Given the description of an element on the screen output the (x, y) to click on. 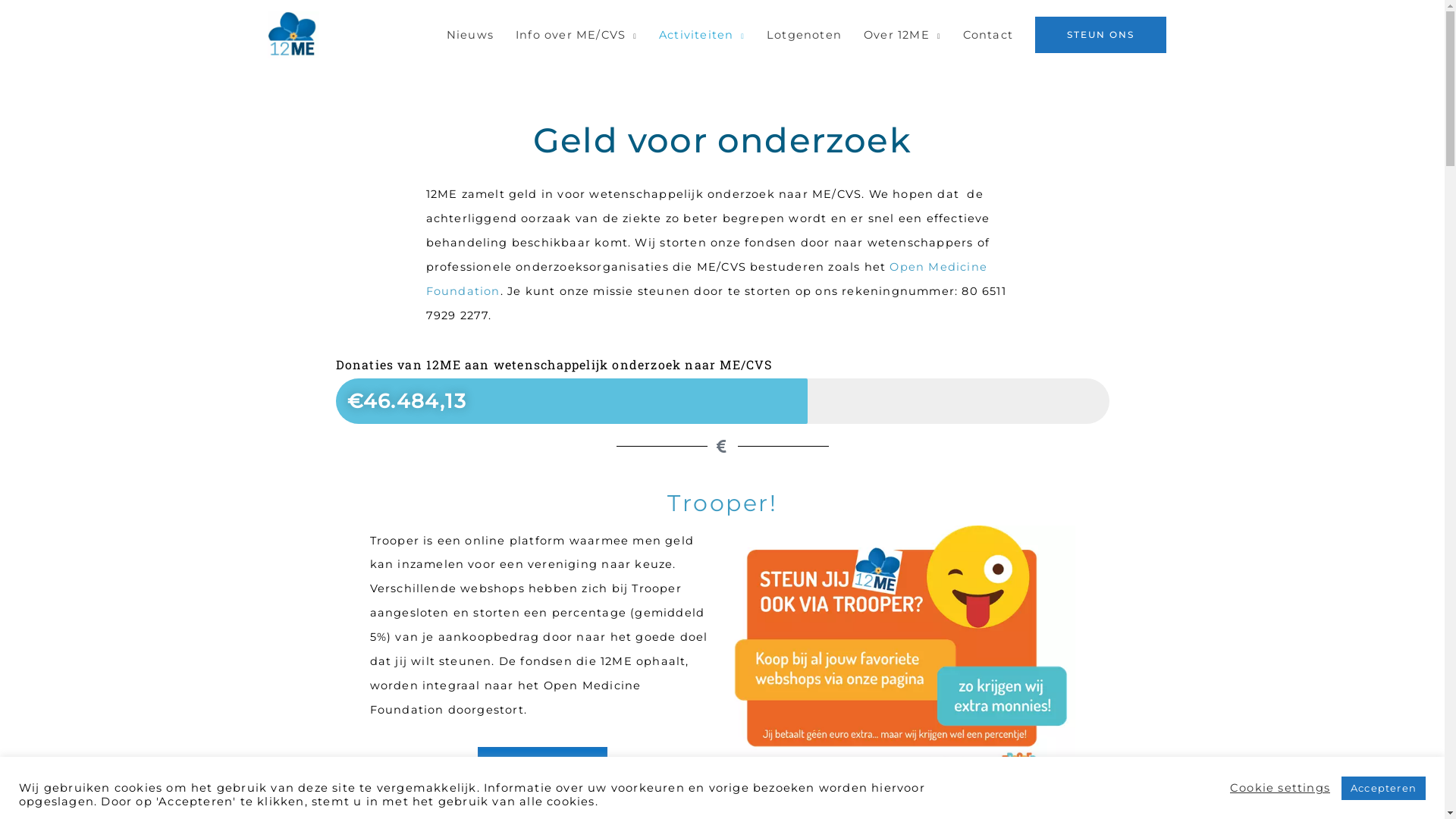
LEES MEER Element type: text (542, 764)
Cookie settings Element type: text (1280, 787)
Open Medicine Foundation Element type: text (706, 279)
Nieuws Element type: text (469, 34)
Lotgenoten Element type: text (804, 34)
Over 12ME Element type: text (902, 34)
Activiteiten Element type: text (701, 34)
STEUN ONS Element type: text (1100, 34)
Info over ME/CVS Element type: text (576, 34)
Contact Element type: text (987, 34)
Accepteren Element type: text (1383, 788)
